Given the description of an element on the screen output the (x, y) to click on. 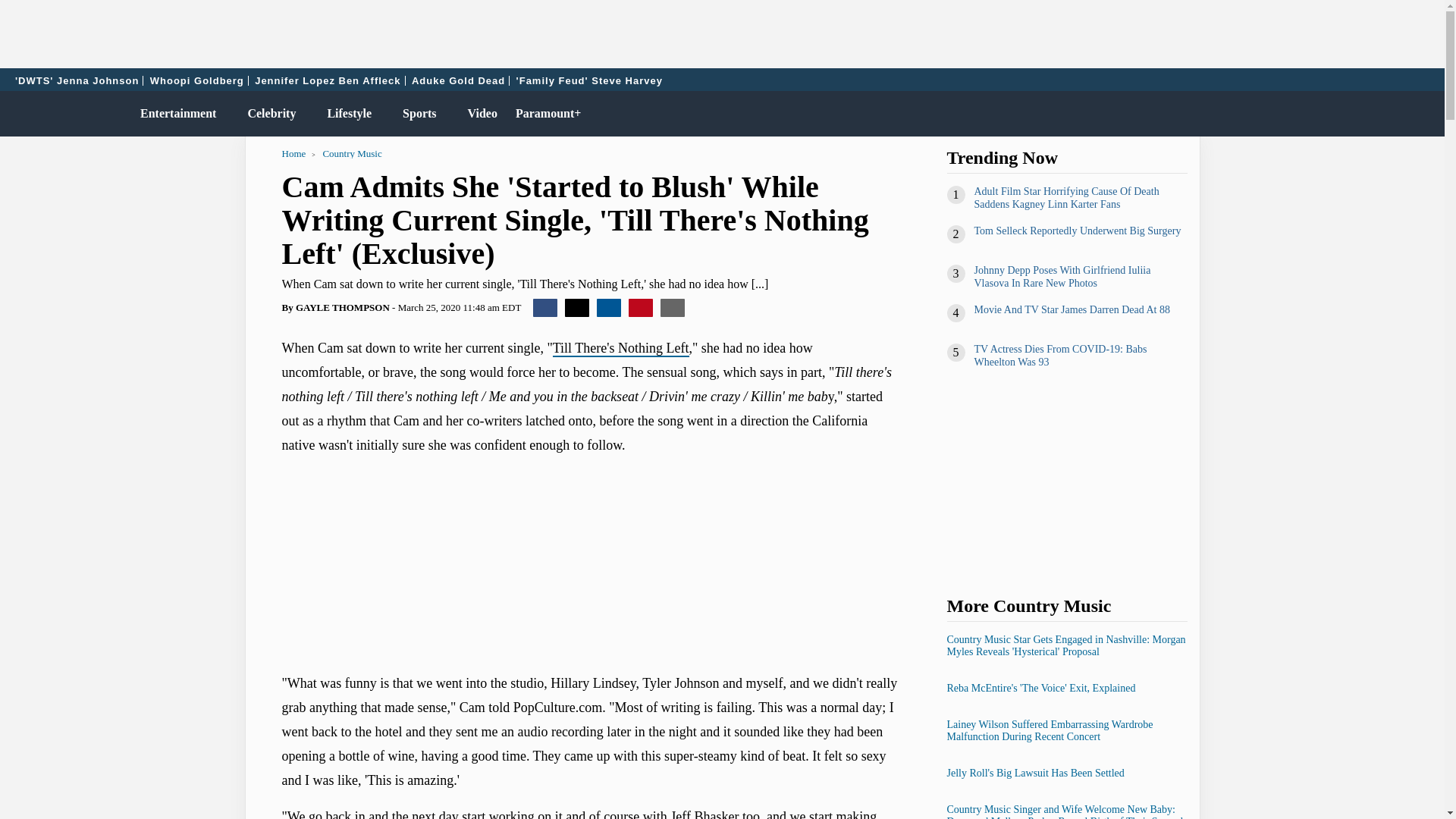
Whoopi Goldberg (197, 80)
Video (479, 113)
Jennifer Lopez Ben Affleck (327, 80)
Entertainment (175, 113)
Aduke Gold Dead (457, 80)
'DWTS' Jenna Johnson (76, 80)
Sports (416, 113)
'Family Feud' Steve Harvey (589, 80)
Dark Mode (1394, 113)
Celebrity (267, 113)
